Given the description of an element on the screen output the (x, y) to click on. 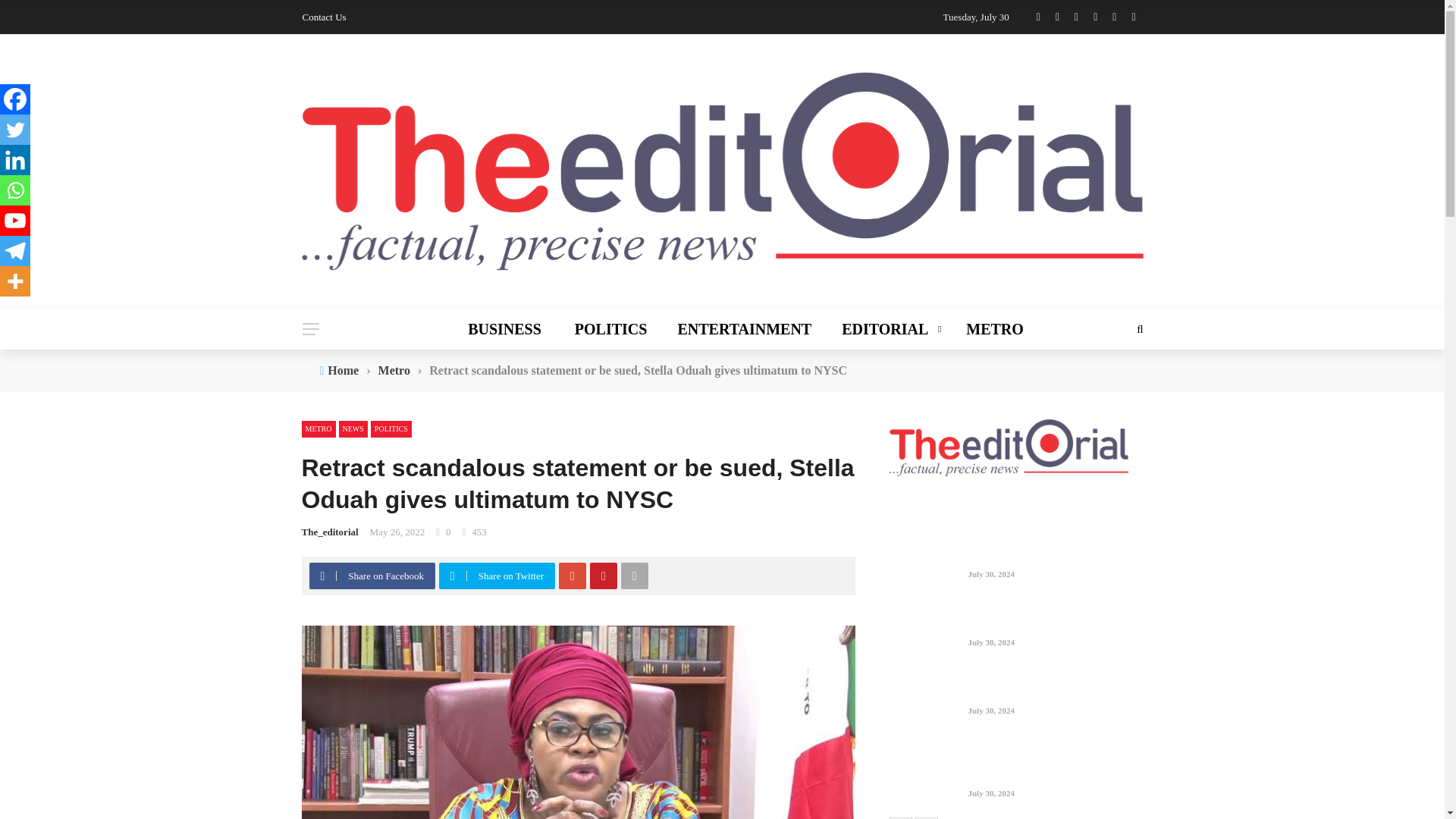
METRO (986, 328)
ENTERTAINMENT (744, 328)
POLITICS (610, 328)
BUSINESS (513, 328)
EDITORIAL (888, 328)
Contact Us (323, 16)
